Given the description of an element on the screen output the (x, y) to click on. 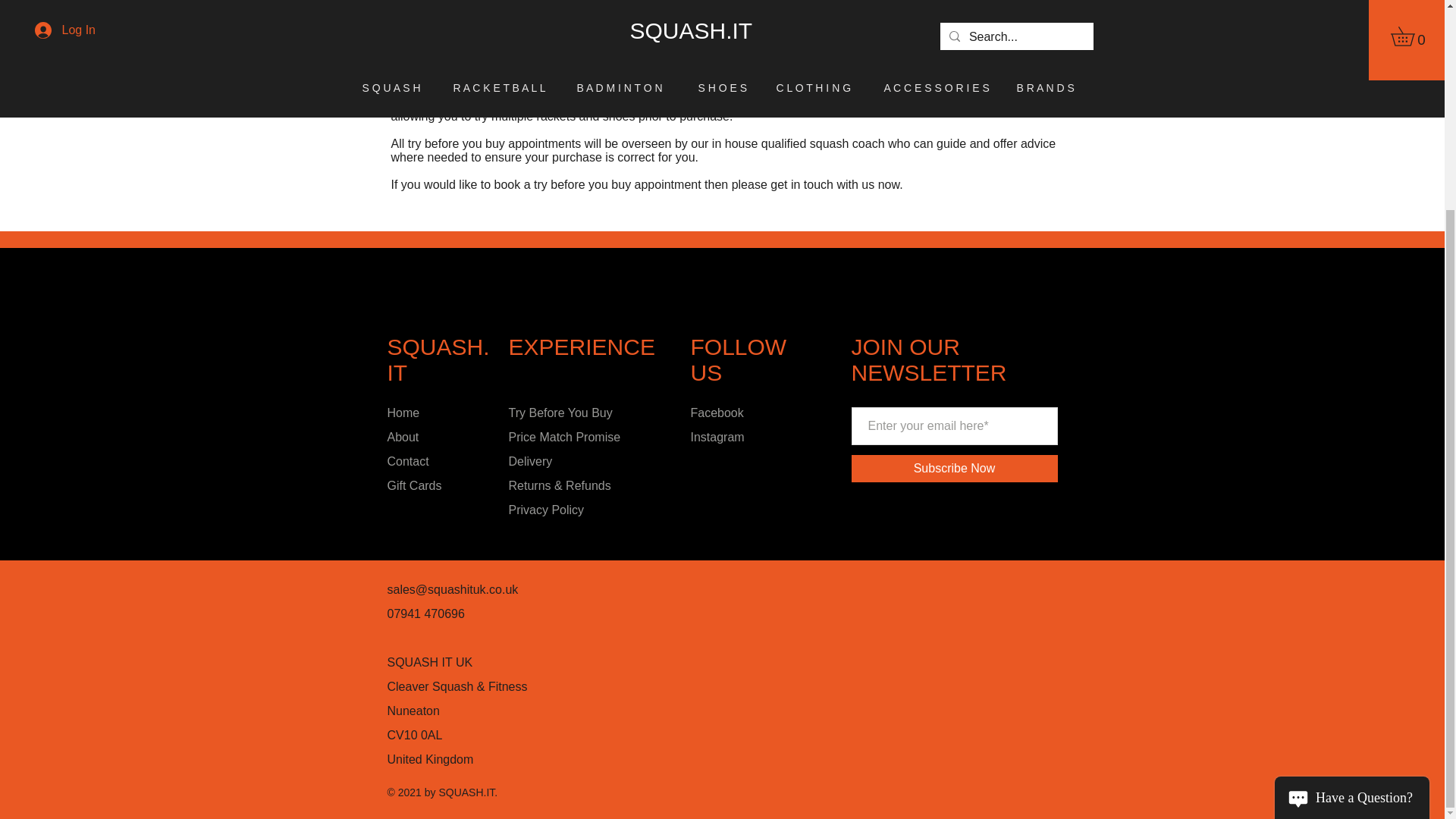
Delivery (529, 461)
Contact (407, 461)
About (403, 436)
Try Before You Buy (559, 412)
Privacy Policy (545, 509)
Price Match Promise (564, 436)
Home (403, 412)
Gift Cards (414, 485)
